Given the description of an element on the screen output the (x, y) to click on. 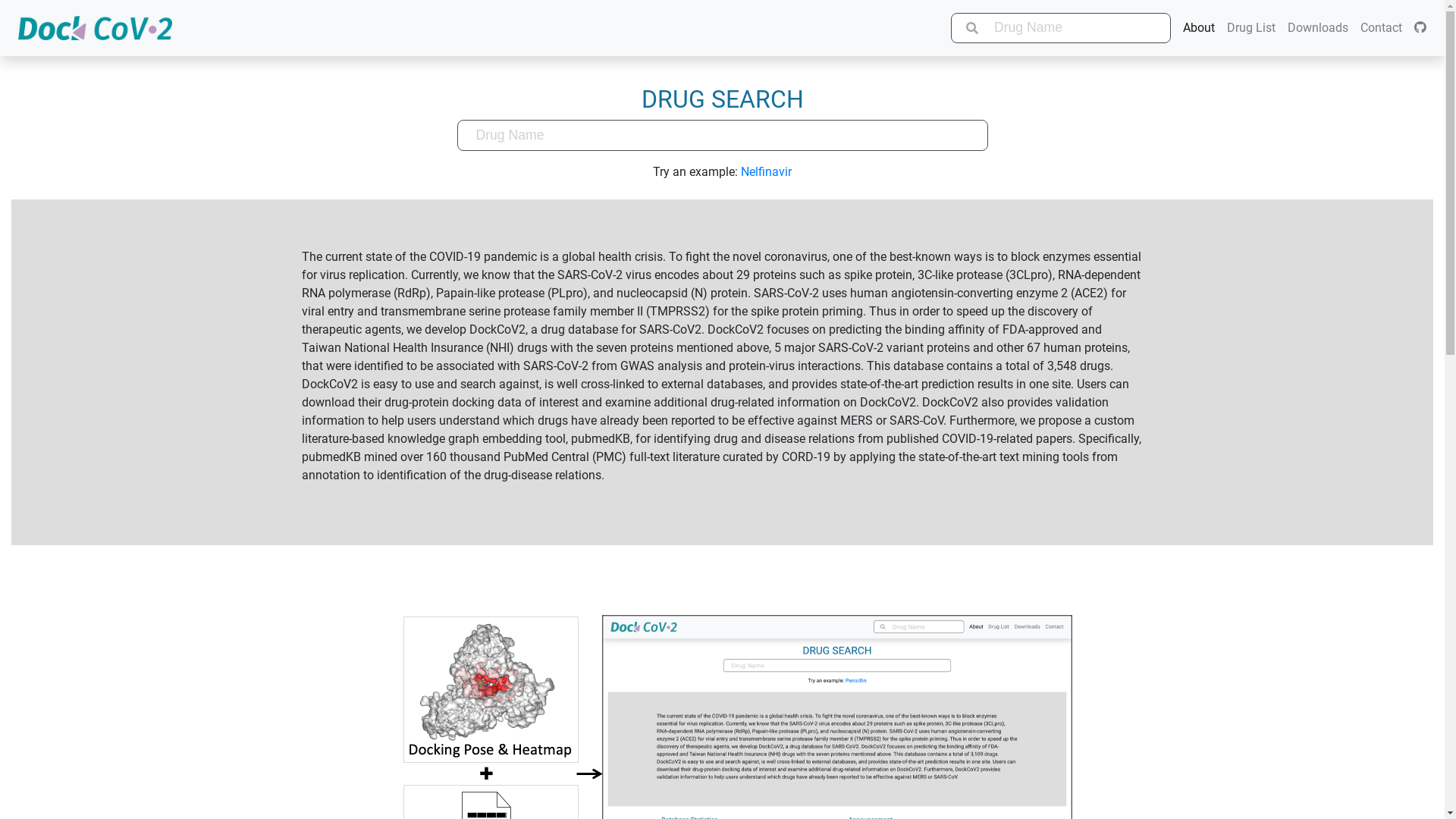
Drug List Element type: text (1250, 27)
About Element type: text (1198, 27)
Nelfinavir Element type: text (765, 171)
Downloads Element type: text (1317, 27)
Contact Element type: text (1381, 27)
